Given the description of an element on the screen output the (x, y) to click on. 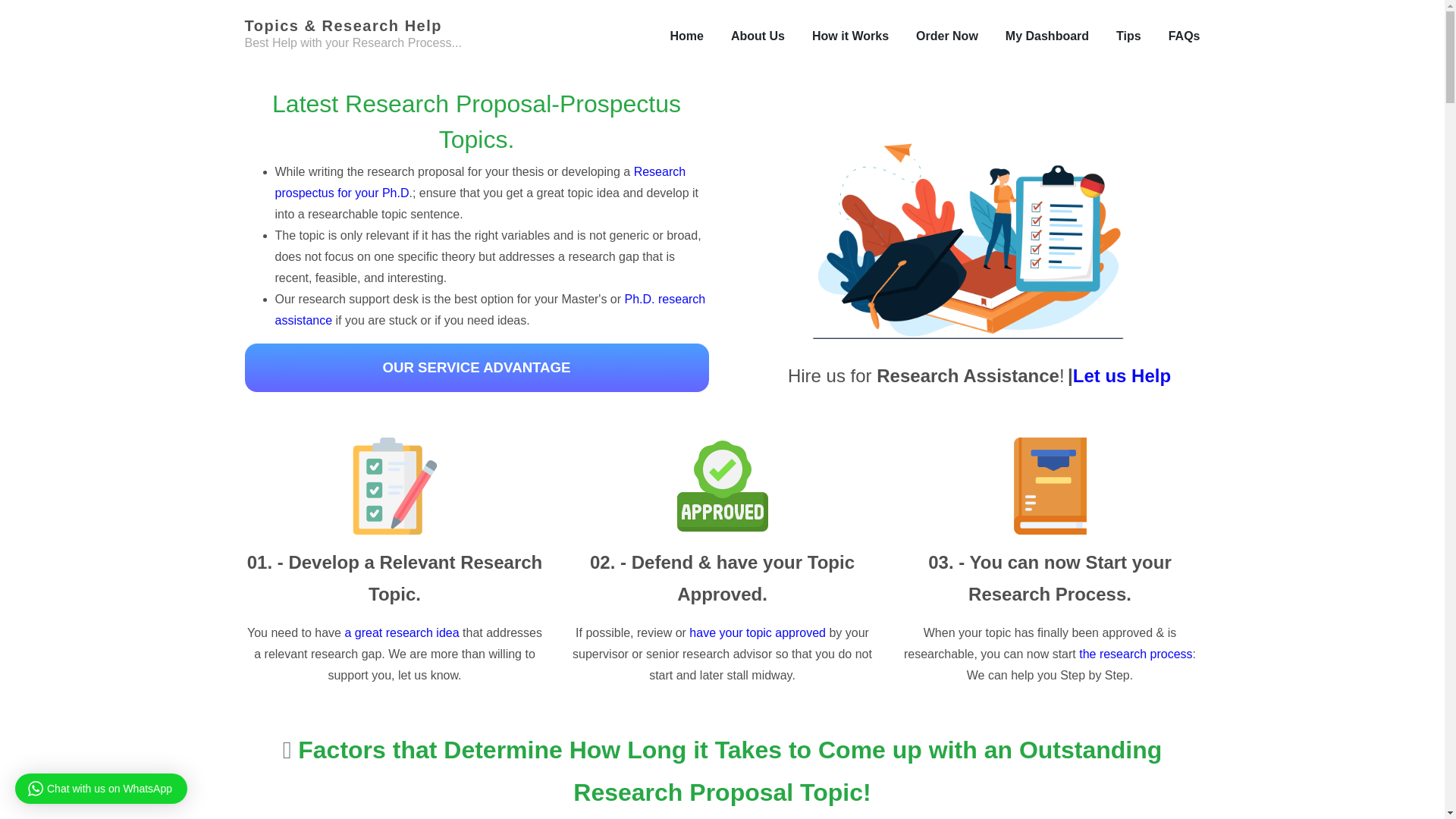
Research prospectus for your Ph.D (480, 182)
Order Now (946, 36)
Ph.D. research assistance (489, 309)
How it Works (850, 36)
a great research idea (403, 632)
FAQs (1184, 36)
My Dashboard (1047, 36)
the research process (1135, 653)
OUR SERVICE ADVANTAGE (475, 368)
About Us (757, 36)
